Given the description of an element on the screen output the (x, y) to click on. 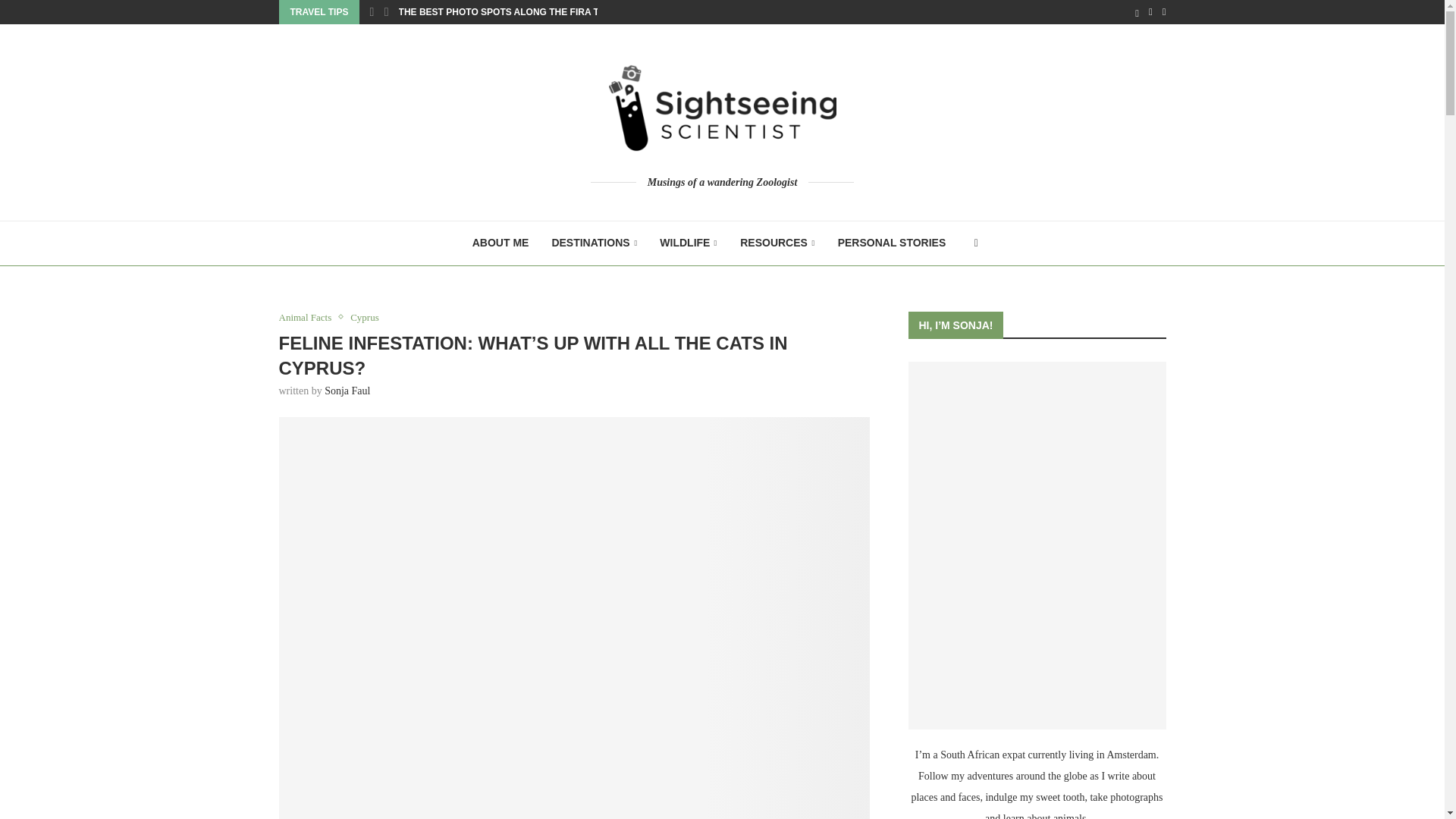
THE BEST PHOTO SPOTS ALONG THE FIRA TO... (505, 12)
ABOUT ME (500, 243)
DESTINATIONS (593, 243)
